Given the description of an element on the screen output the (x, y) to click on. 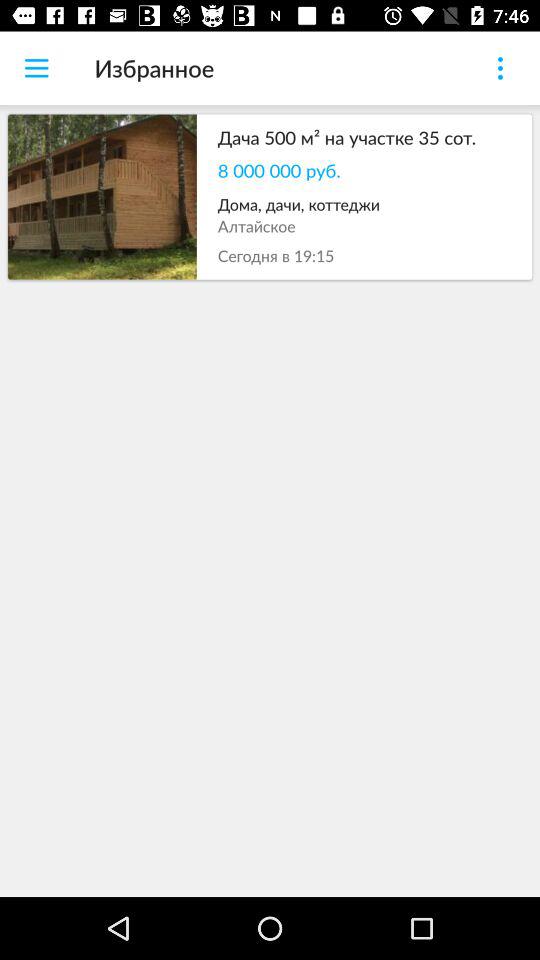
click the item below the 8 000 000 (364, 204)
